Given the description of an element on the screen output the (x, y) to click on. 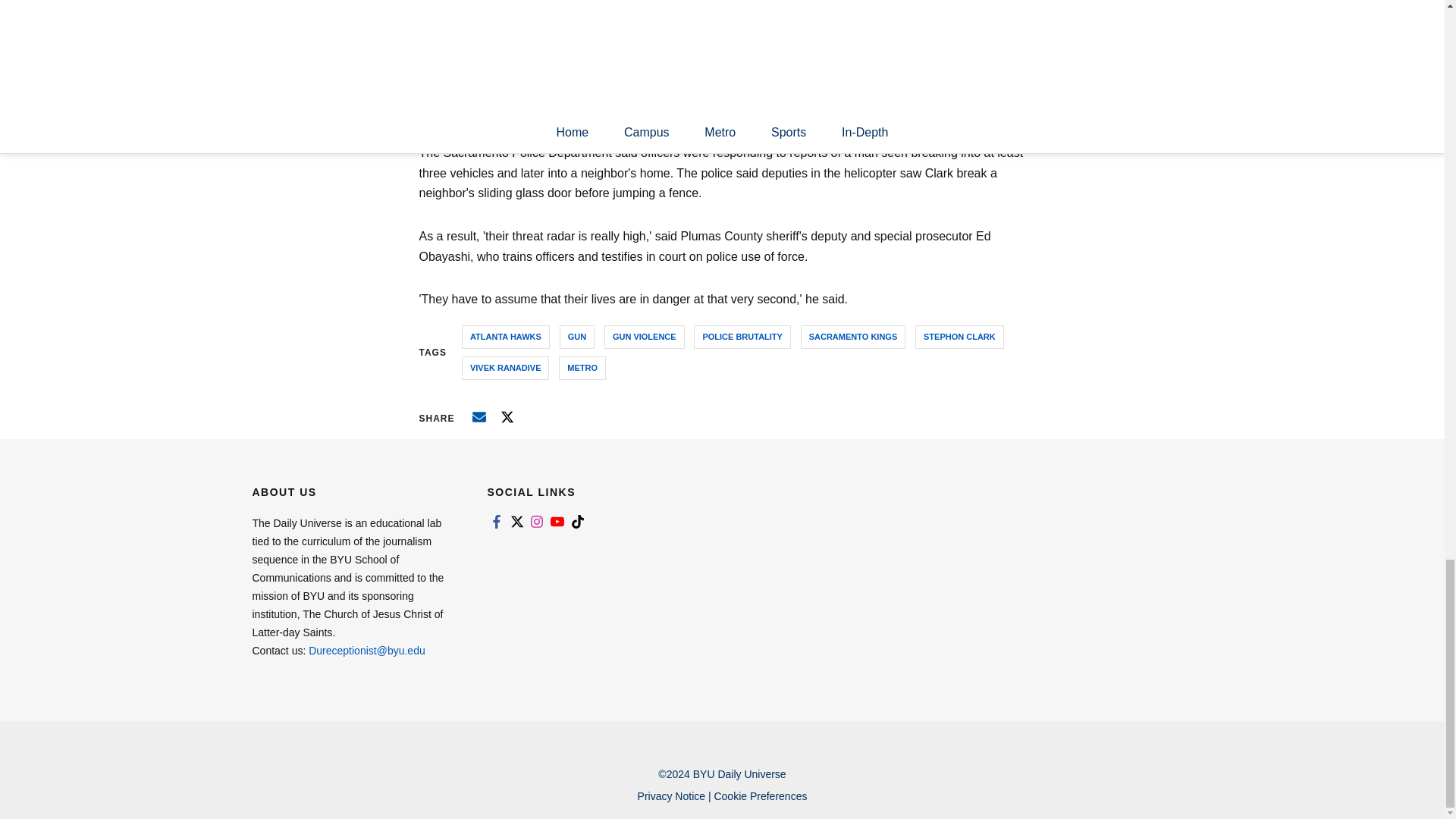
Privacy Notice (670, 796)
METRO (582, 368)
GUN VIOLENCE (644, 336)
VIVEK RANADIVE (505, 368)
Link to twitter (515, 521)
Cookie Preferences (759, 796)
Link to facebook (495, 521)
ATLANTA HAWKS (505, 336)
GUN (576, 336)
POLICE BRUTALITY (742, 336)
